Given the description of an element on the screen output the (x, y) to click on. 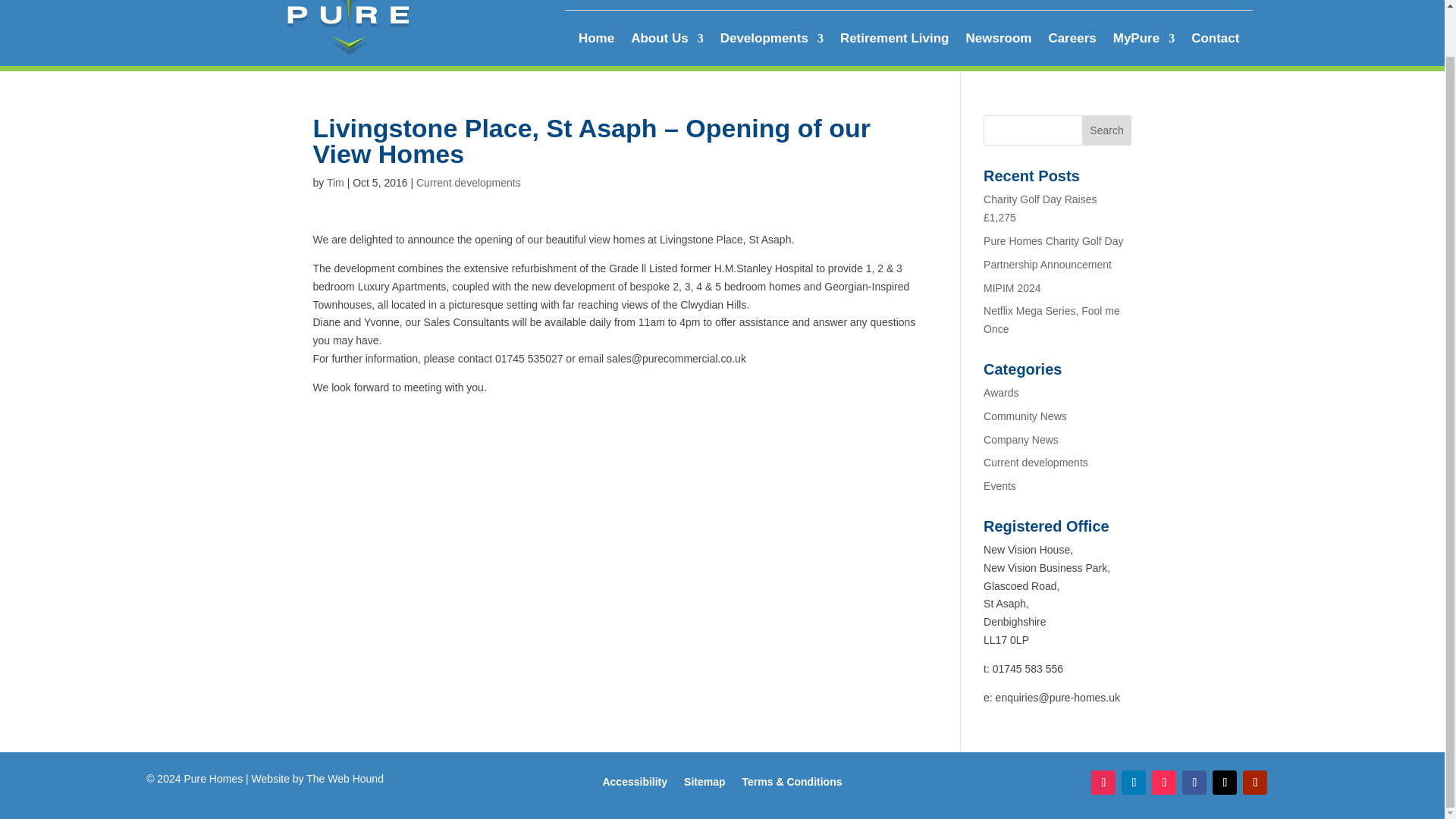
Developments (772, 41)
About Us (666, 41)
Follow on Facebook (1194, 782)
Follow on Instagram (1102, 782)
Follow on LinkedIn (1133, 782)
MyPure (1143, 41)
pure-homes-logo (348, 28)
Follow on X (1224, 782)
Follow on TikTok (1163, 782)
Home (596, 41)
